Given the description of an element on the screen output the (x, y) to click on. 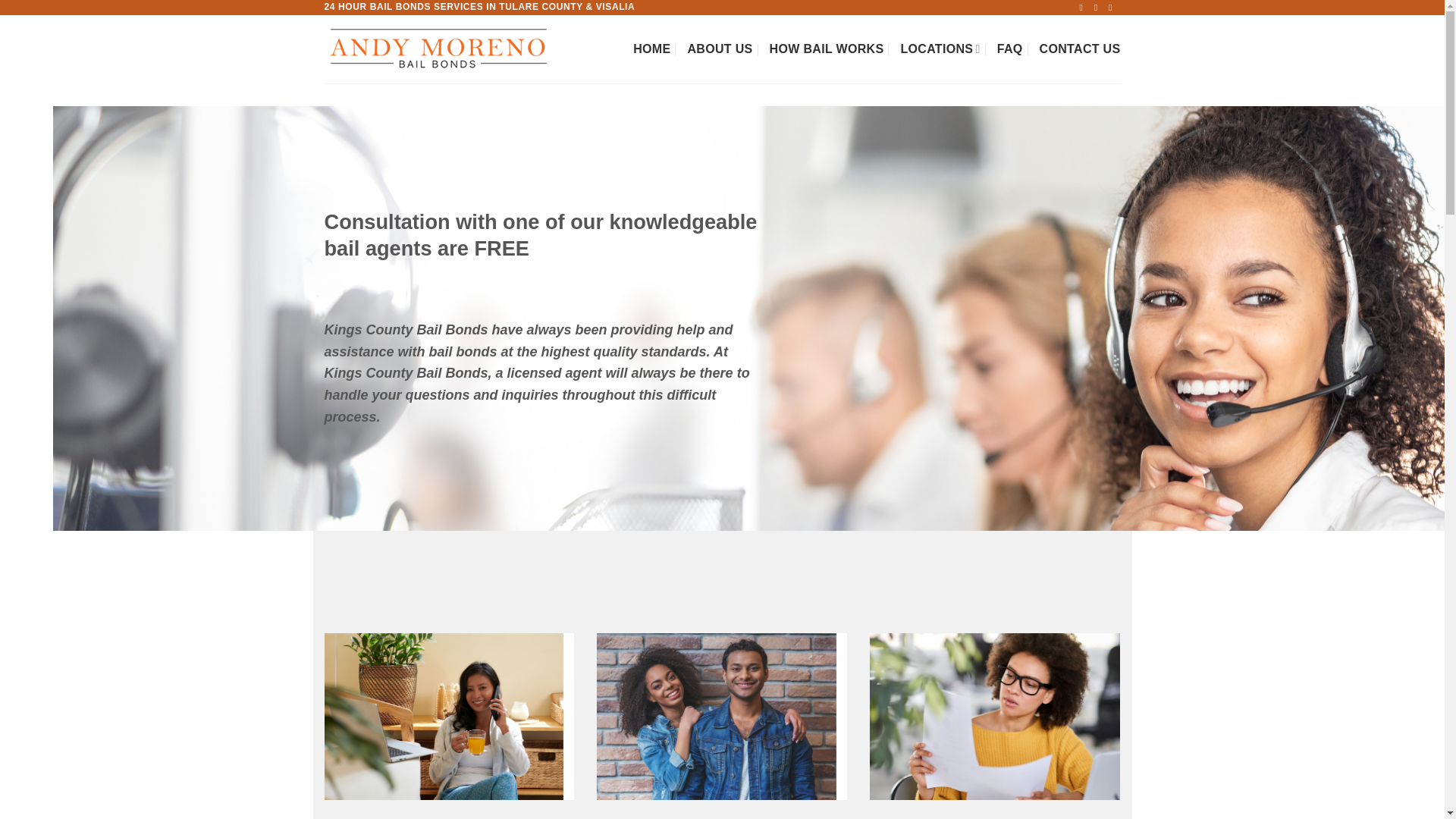
CONTACT US (1080, 49)
FAQ (1010, 49)
ABOUT US (719, 49)
HOW BAIL WORKS (826, 49)
HOME (651, 49)
LOCATIONS (939, 48)
